Given the description of an element on the screen output the (x, y) to click on. 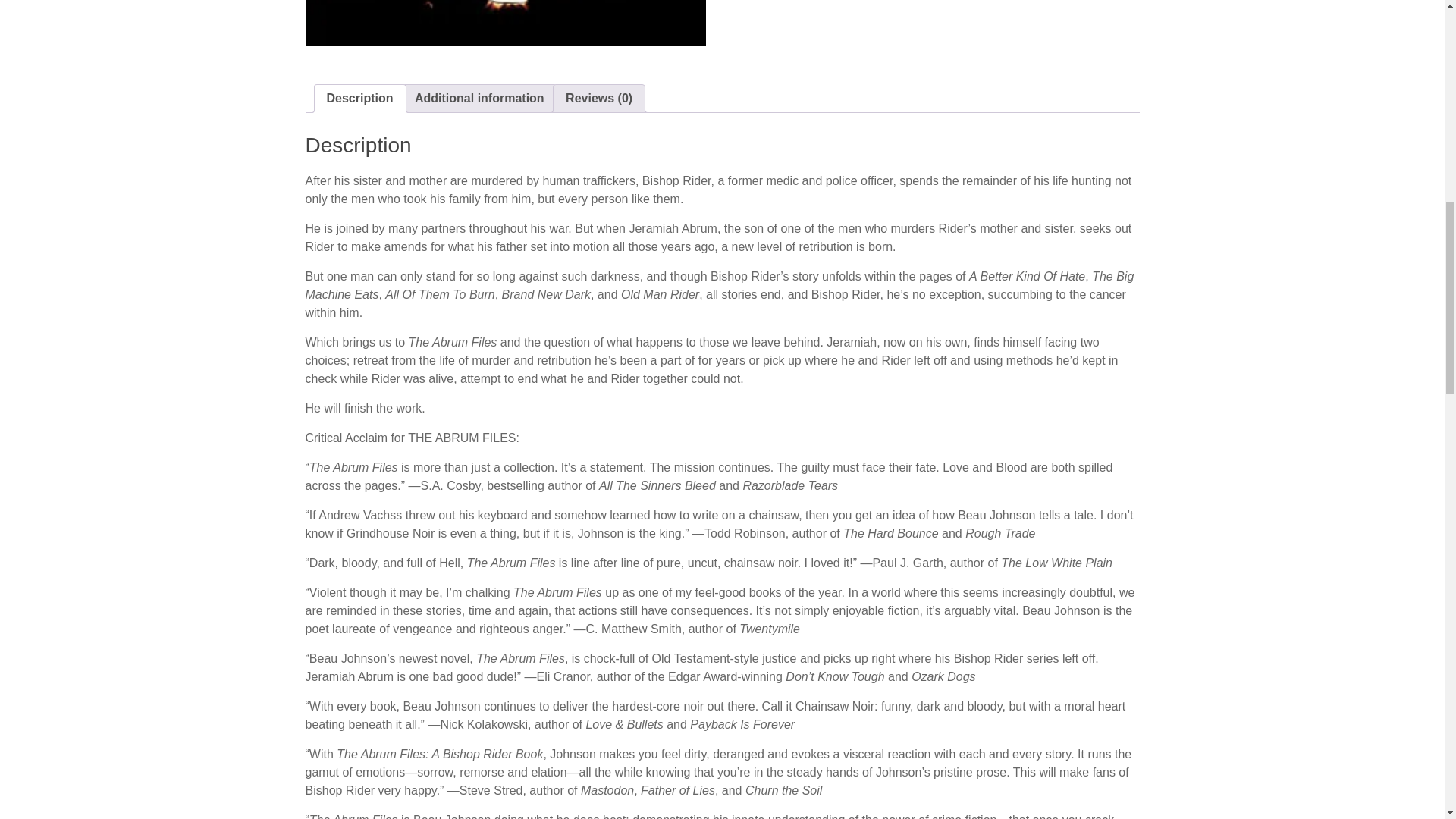
The Abrum Files by Beau Johnson (504, 23)
